Given the description of an element on the screen output the (x, y) to click on. 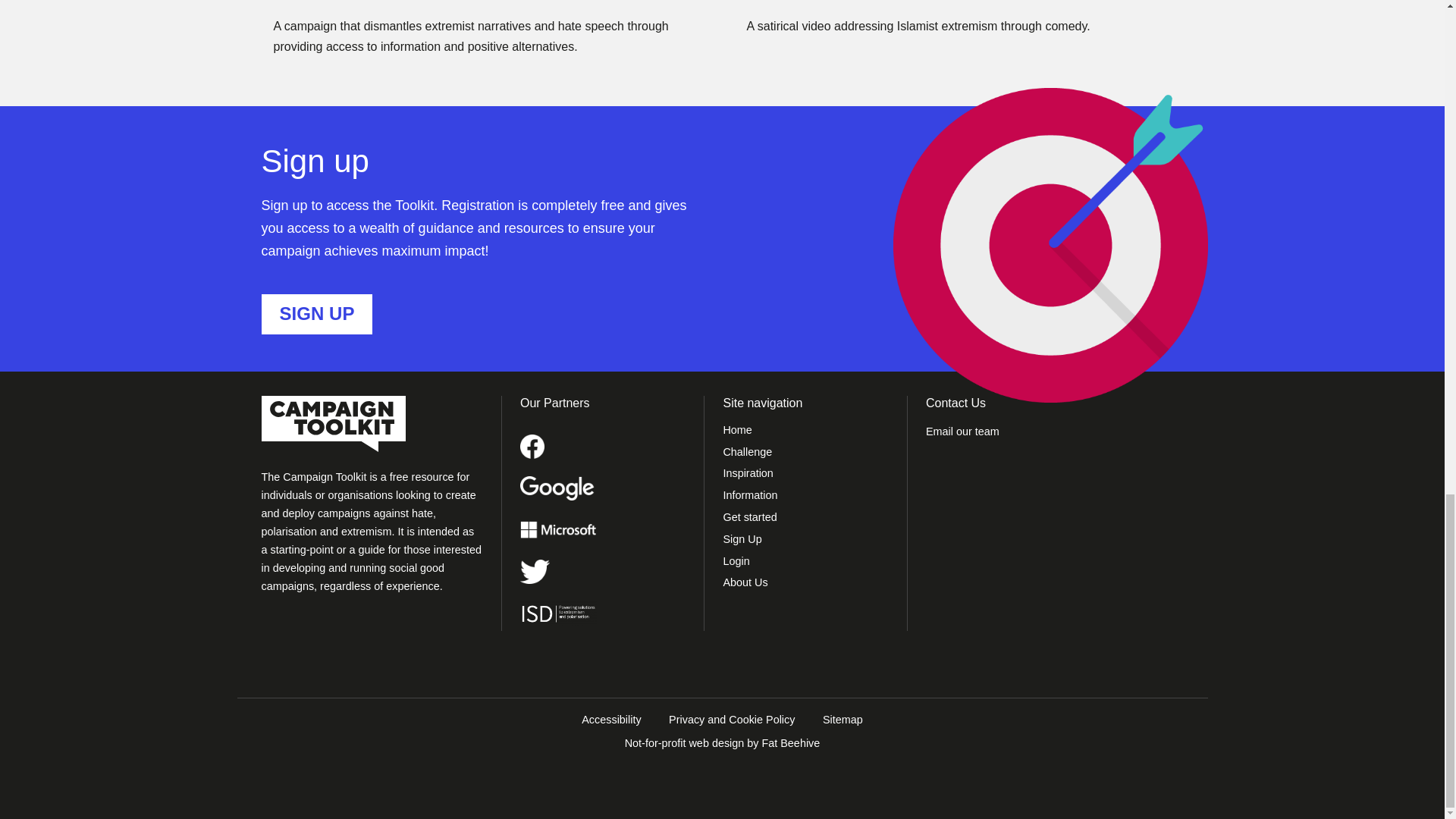
Challenge (805, 455)
SIGN UP (316, 314)
What The Fake (335, 1)
JiLadz (771, 1)
Home (805, 433)
